Given the description of an element on the screen output the (x, y) to click on. 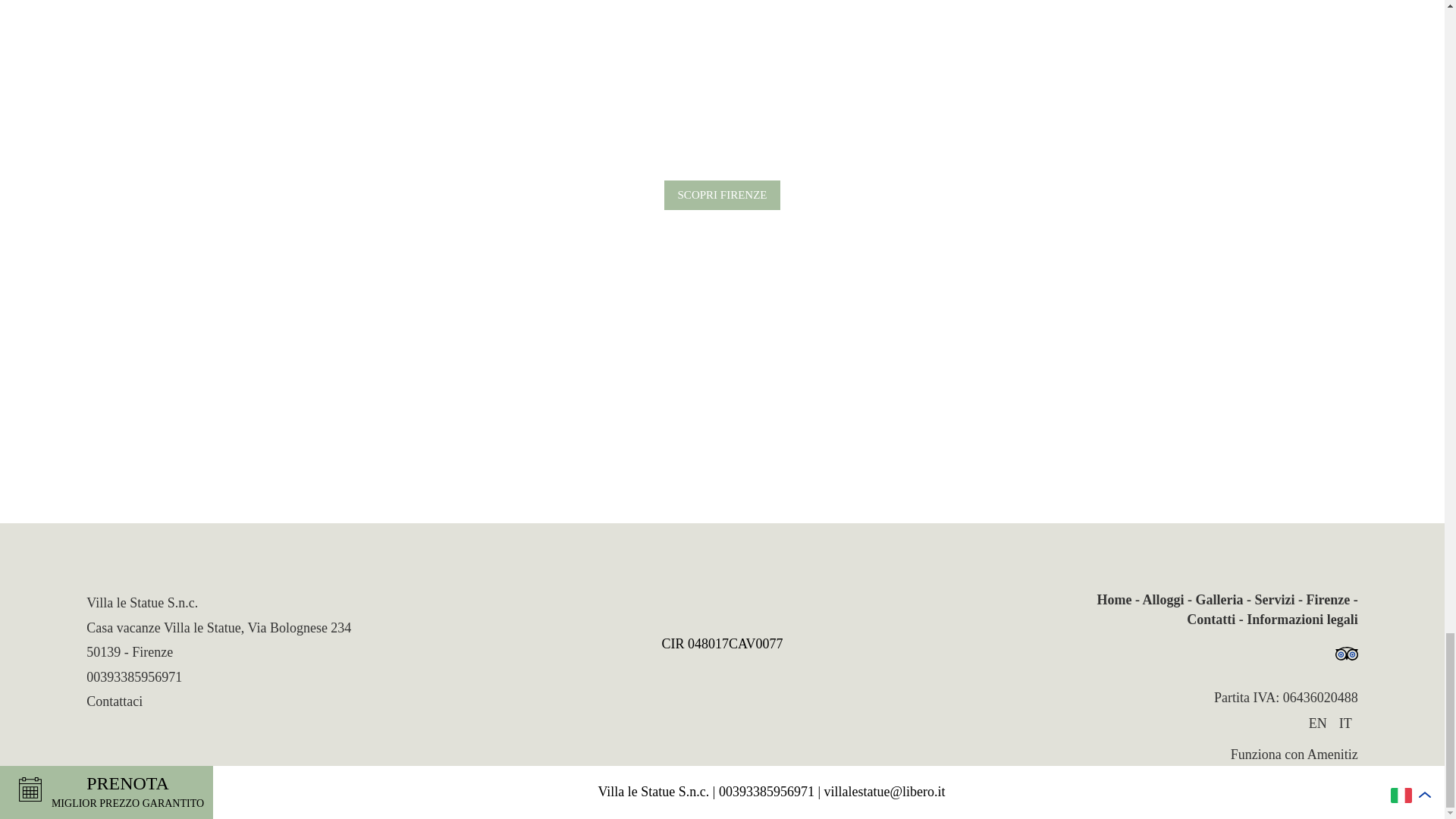
SCOPRI FIRENZE (721, 194)
Contattaci (113, 701)
CIR 048017CAV0077 (722, 643)
Home (1119, 599)
